Given the description of an element on the screen output the (x, y) to click on. 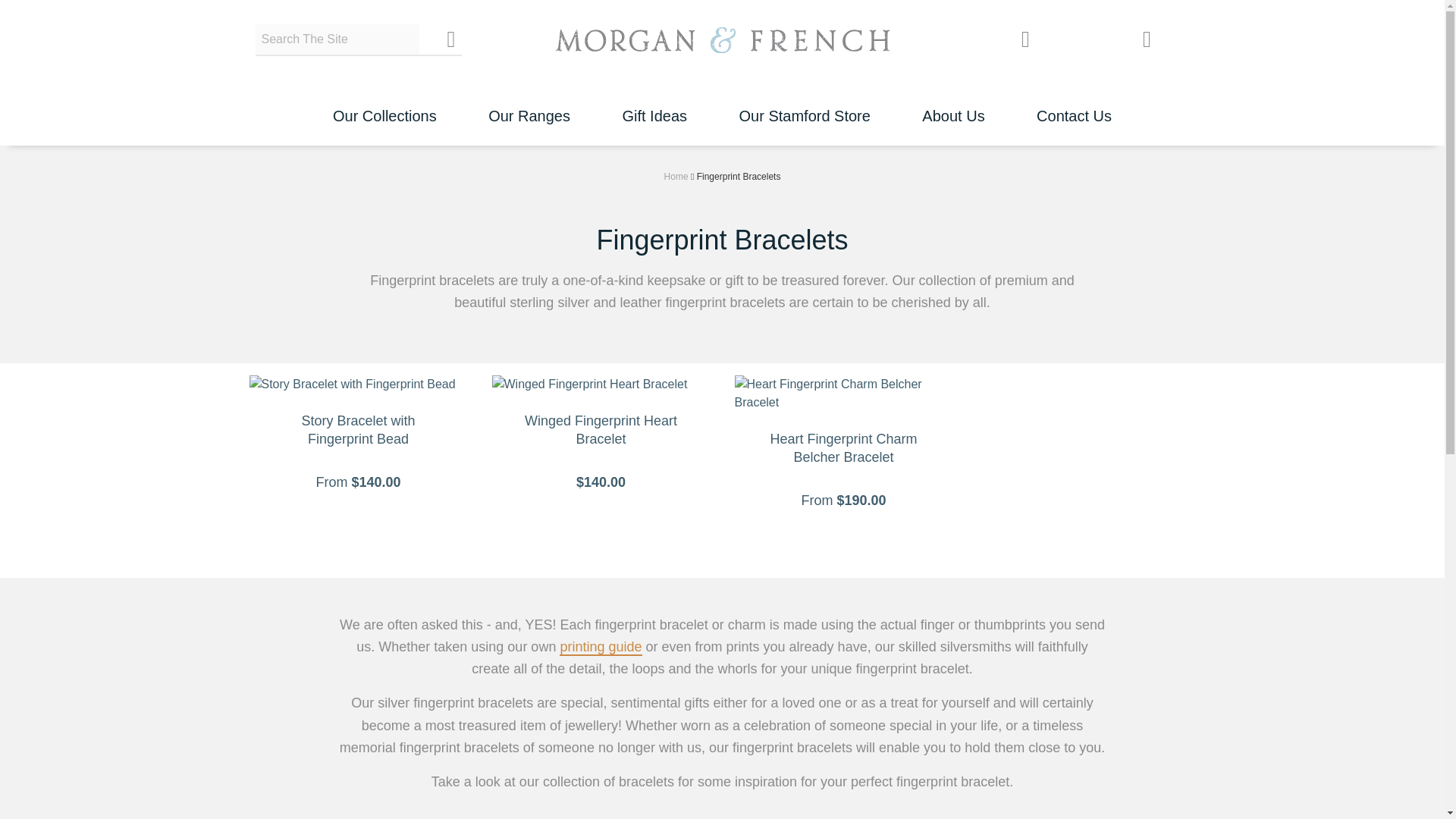
Our Collections (384, 100)
Our Ranges (529, 100)
Back to Homepage (721, 40)
Our Ranges (529, 100)
Our Stamford Store (803, 100)
Our Collections (384, 100)
Gift Ideas (653, 100)
Home (675, 176)
Gift Ideas (653, 100)
Contact Us (1073, 100)
About Us (953, 100)
